Given the description of an element on the screen output the (x, y) to click on. 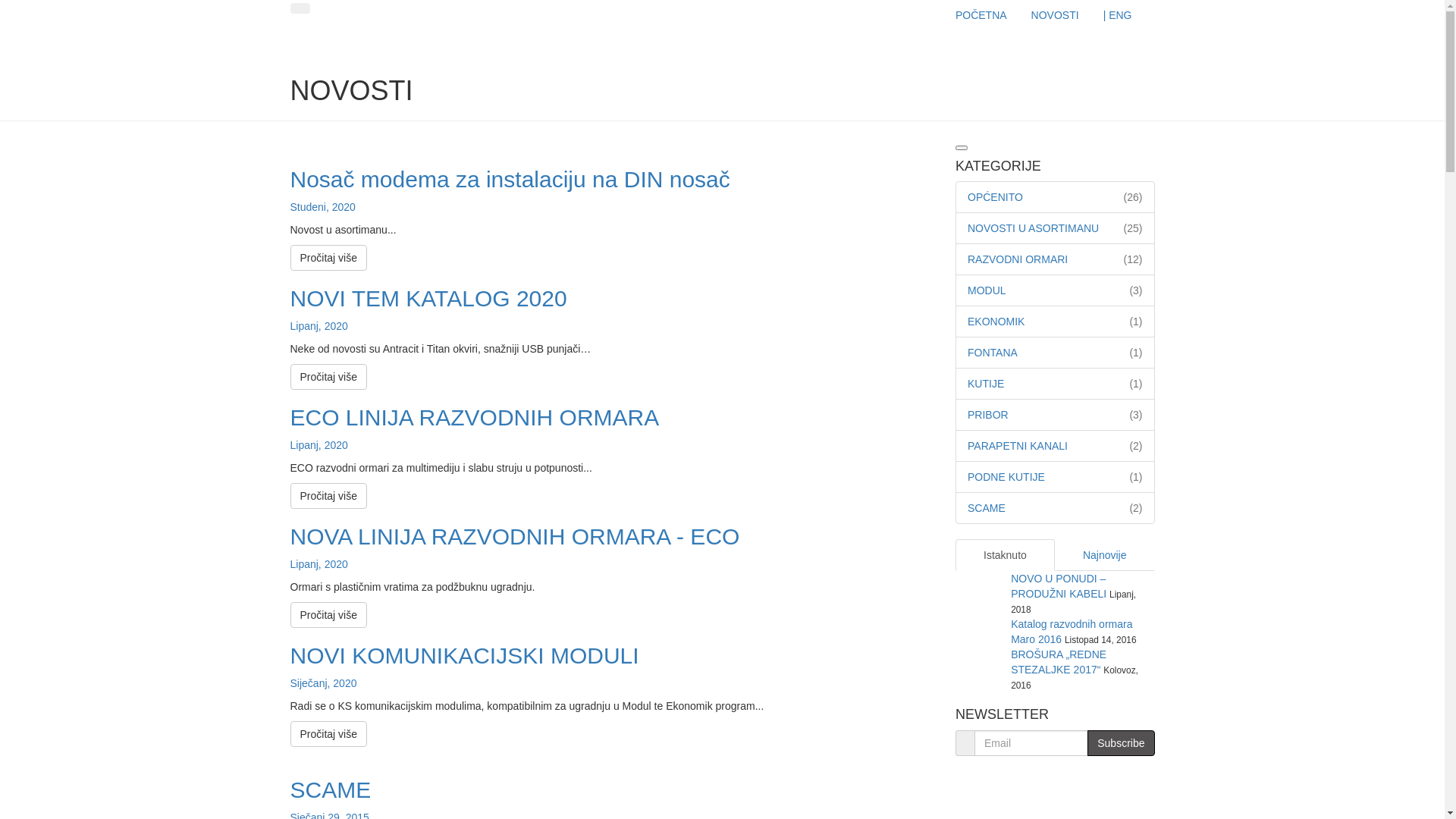
(3)
PRIBOR Element type: text (987, 414)
Katalog razvodnih ormara Maro 2016 Element type: text (1071, 631)
(12)
RAZVODNI ORMARI Element type: text (1017, 259)
(1)
FONTANA Element type: text (992, 352)
ECO LINIJA RAZVODNIH ORMARA Element type: text (473, 416)
(1)
EKONOMIK Element type: text (995, 321)
(25)
NOVOSTI U ASORTIMANU Element type: text (1032, 228)
NOVI TEM KATALOG 2020 Element type: text (427, 297)
NOVI KOMUNIKACIJSKI MODULI Element type: text (463, 655)
Subscribe Element type: text (1120, 743)
(3)
MODUL Element type: text (986, 290)
(1)
KUTIJE Element type: text (985, 383)
Lipanj, 2020 Element type: text (318, 326)
NOVOSTI Element type: text (1054, 15)
(2)
PARAPETNI KANALI Element type: text (1017, 445)
(2)
SCAME Element type: text (986, 508)
(1)
PODNE KUTIJE Element type: text (1005, 476)
Lipanj, 2020 Element type: text (318, 445)
Studeni, 2020 Element type: text (321, 206)
SCAME Element type: text (329, 789)
| ENG Element type: text (1117, 15)
NOVA LINIJA RAZVODNIH ORMARA - ECO Element type: text (514, 536)
Najnovije Element type: text (1104, 555)
Lipanj, 2020 Element type: text (318, 564)
Istaknuto Element type: text (1004, 555)
